Given the description of an element on the screen output the (x, y) to click on. 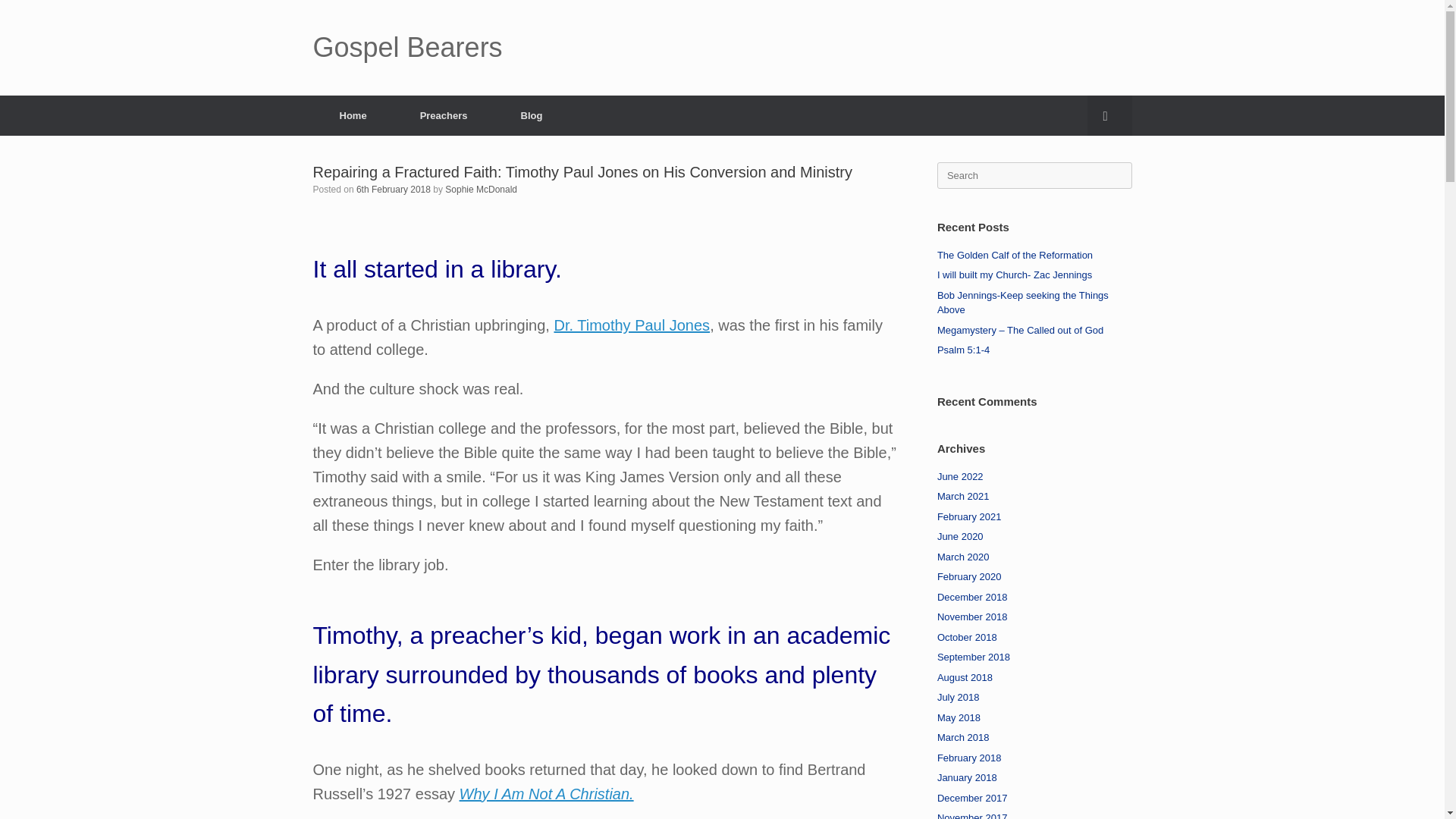
December 2017 (972, 797)
Preachers (444, 115)
July 2018 (958, 696)
June 2020 (960, 536)
I will built my Church- Zac Jennings (1014, 274)
The Golden Calf of the Reformation  (1016, 254)
November 2017 (972, 815)
March 2020 (963, 555)
9:40 pm (393, 189)
Gospel Bearers (407, 47)
View all posts by Sophie McDonald (480, 189)
Gospel Bearers (407, 47)
Home (353, 115)
January 2018 (967, 777)
Why I Am Not A Christian. (546, 793)
